Given the description of an element on the screen output the (x, y) to click on. 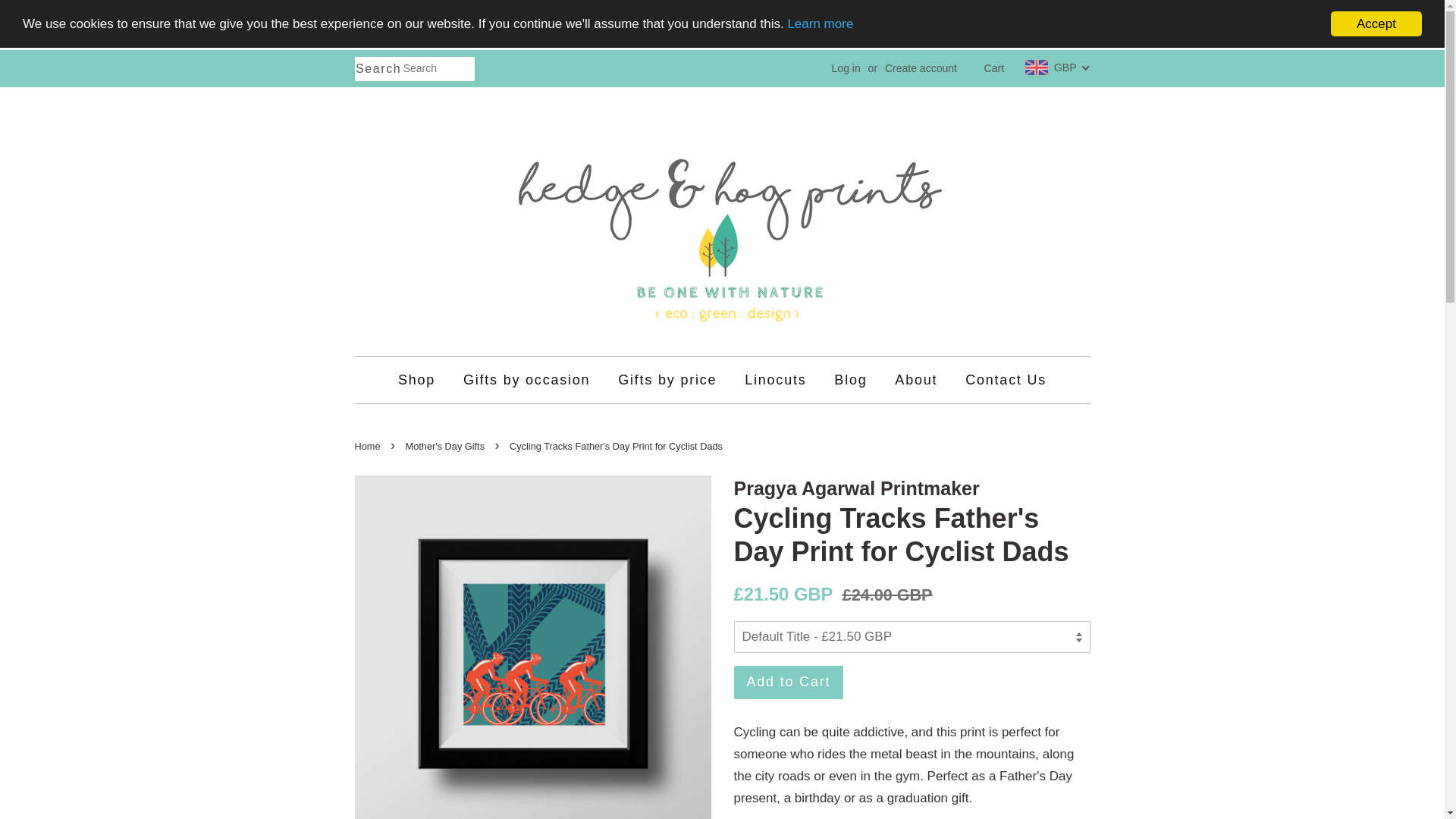
Create account (920, 52)
Search (379, 45)
Back to the frontpage (369, 446)
Cart (994, 59)
Log in (845, 50)
